Given the description of an element on the screen output the (x, y) to click on. 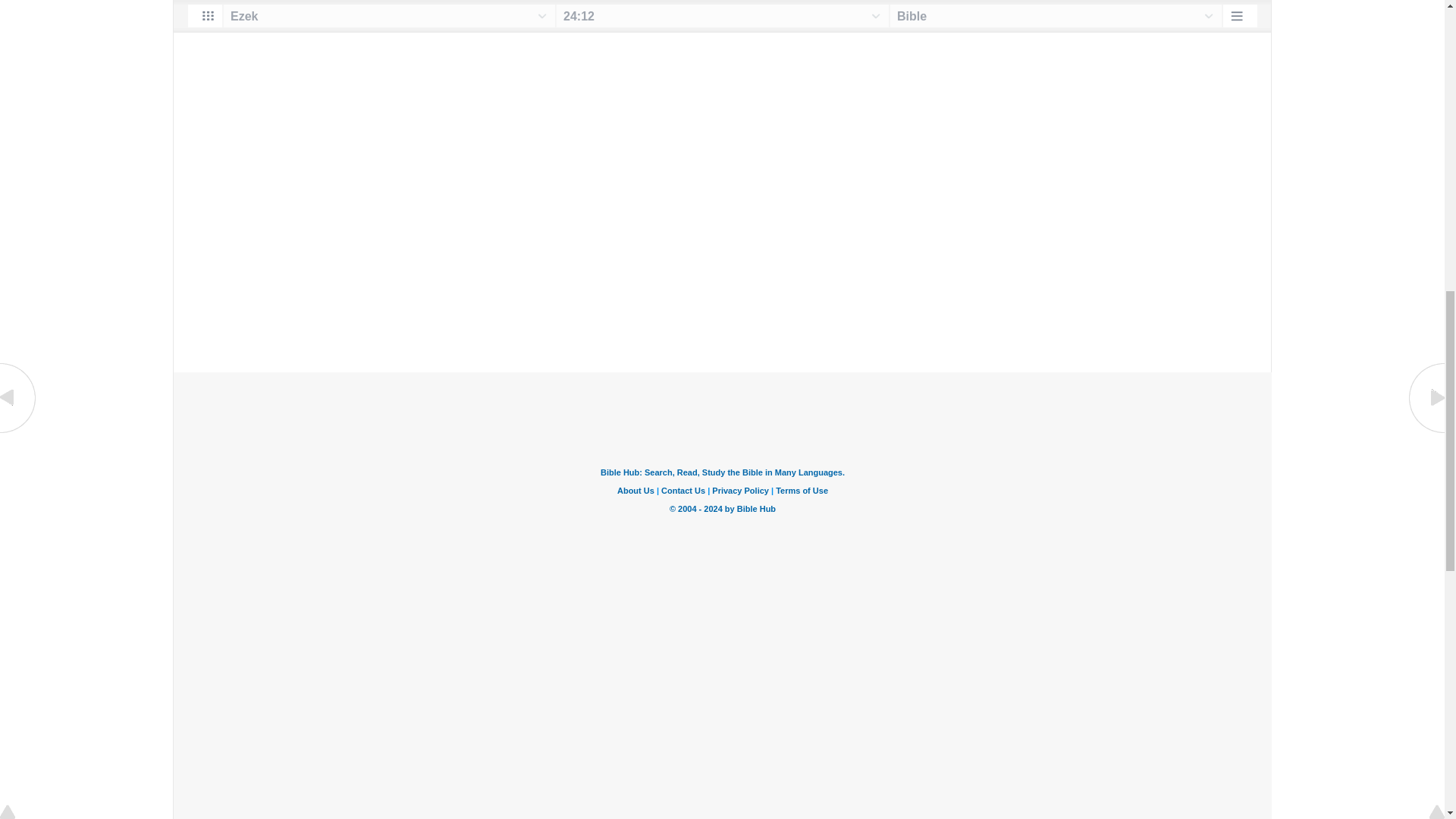
Top of Page (18, 1)
